Given the description of an element on the screen output the (x, y) to click on. 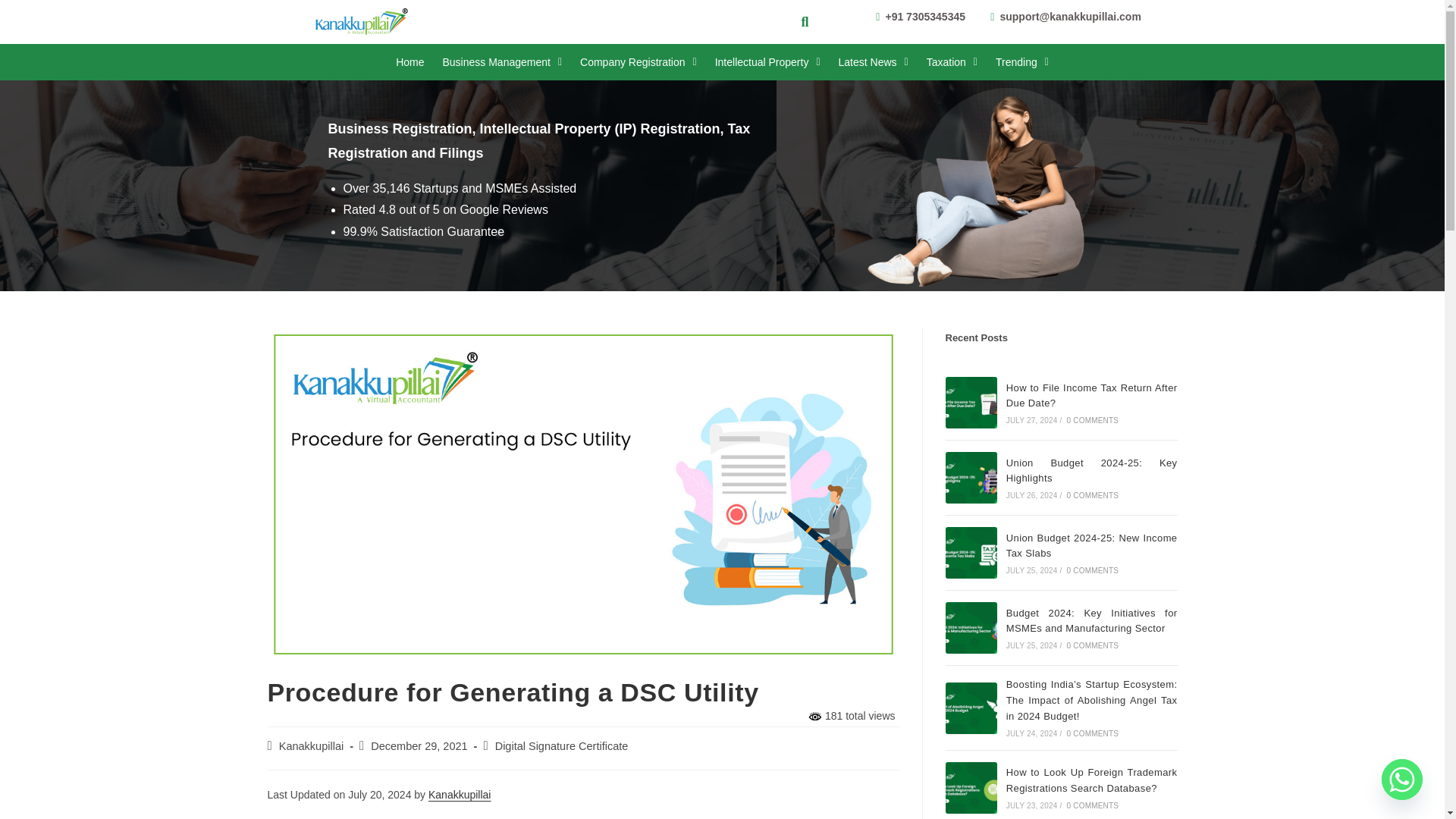
Union Budget 2024-25: Key Highlights (969, 477)
Posts by Kanakkupillai (311, 746)
Latest News (873, 61)
Intellectual Property (767, 61)
Home (409, 61)
Business Management (501, 61)
Search (798, 22)
Union Budget 2024-25: New Income Tax Slabs (969, 552)
Company Registration (638, 61)
Taxation (952, 61)
How to File Income Tax Return After Due Date? (969, 402)
